Given the description of an element on the screen output the (x, y) to click on. 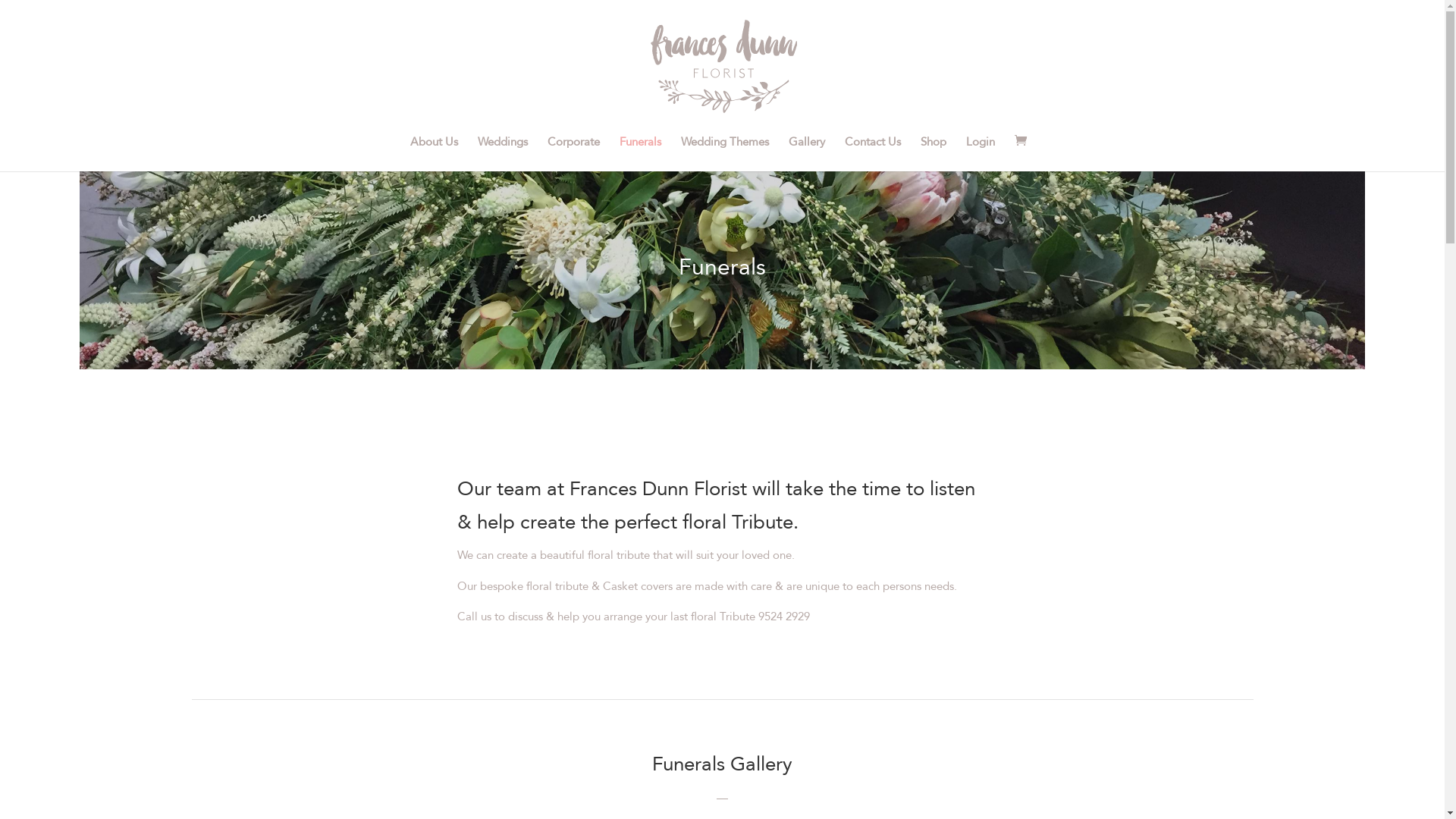
Gallery Element type: text (806, 153)
Corporate Element type: text (573, 153)
Wedding Themes Element type: text (724, 153)
Login Element type: text (980, 153)
Weddings Element type: text (502, 153)
About Us Element type: text (434, 153)
Funerals Element type: text (640, 153)
Shop Element type: text (933, 153)
Contact Us Element type: text (872, 153)
